Given the description of an element on the screen output the (x, y) to click on. 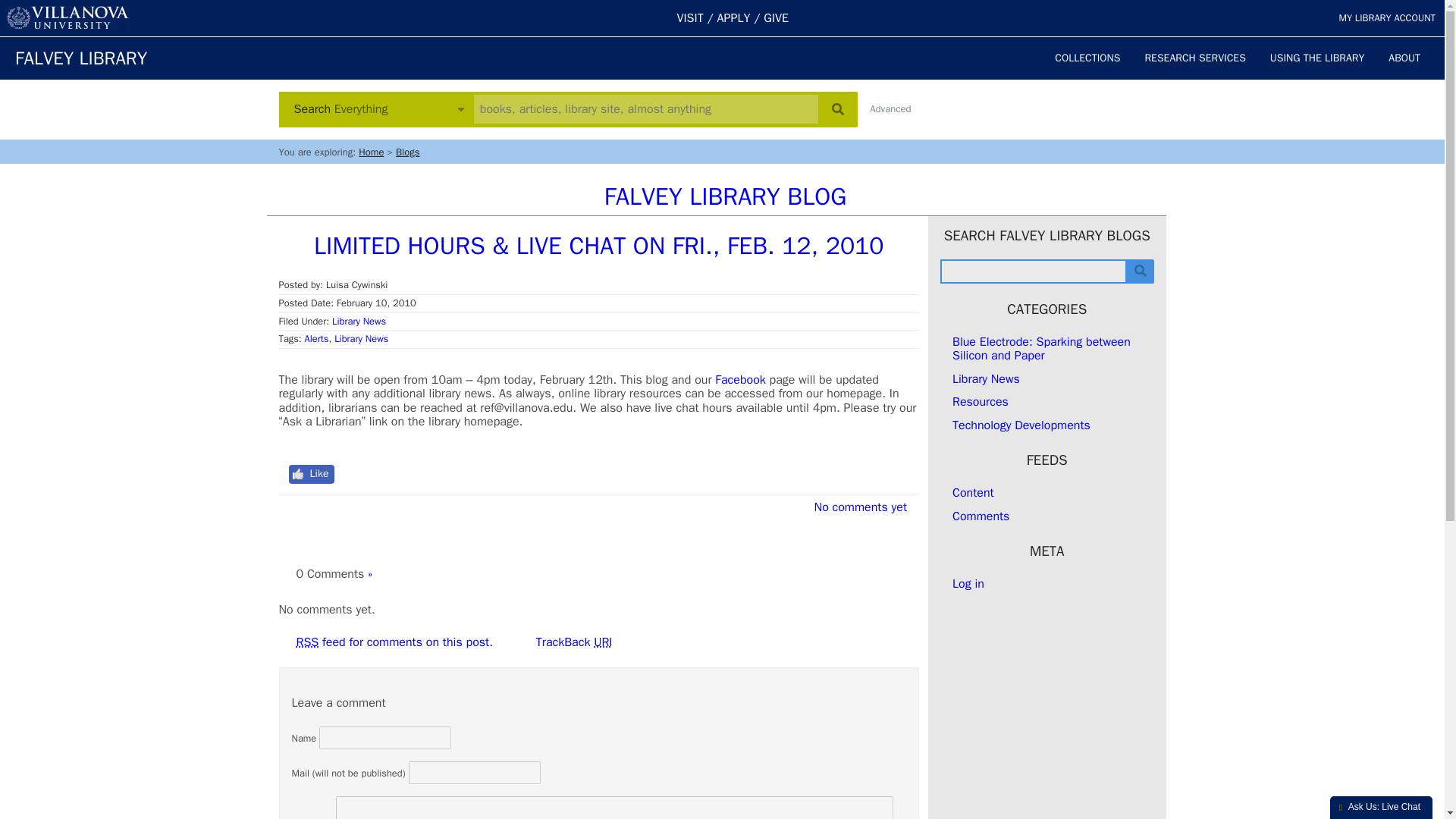
COLLECTIONS (1087, 57)
Advanced (890, 109)
RESEARCH SERVICES (1194, 57)
APPLY (734, 17)
Library News (986, 378)
USING THE LIBRARY (1316, 57)
Technology Developments (1021, 424)
Home (371, 151)
RSS feed for comments on this post. (393, 642)
The latest comments to all posts in RSS (980, 516)
